Given the description of an element on the screen output the (x, y) to click on. 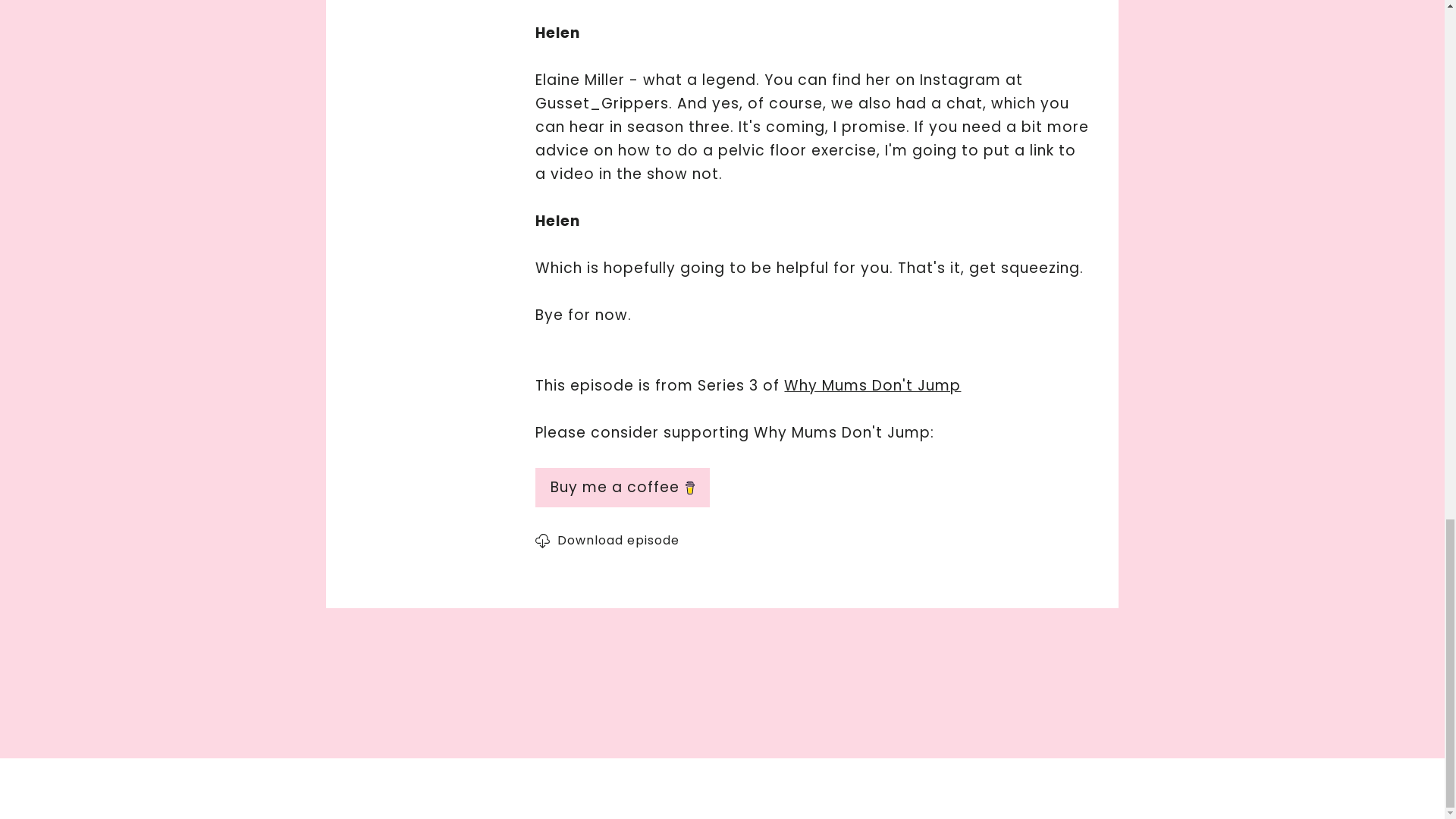
Buy me a coffee (812, 486)
Download episode (621, 540)
Why Mums Don't Jump (872, 385)
Buy me a coffee (622, 486)
Download Bonus Episode: 60 Second Pelvic Floor Squeeze-Along (621, 540)
